Given the description of an element on the screen output the (x, y) to click on. 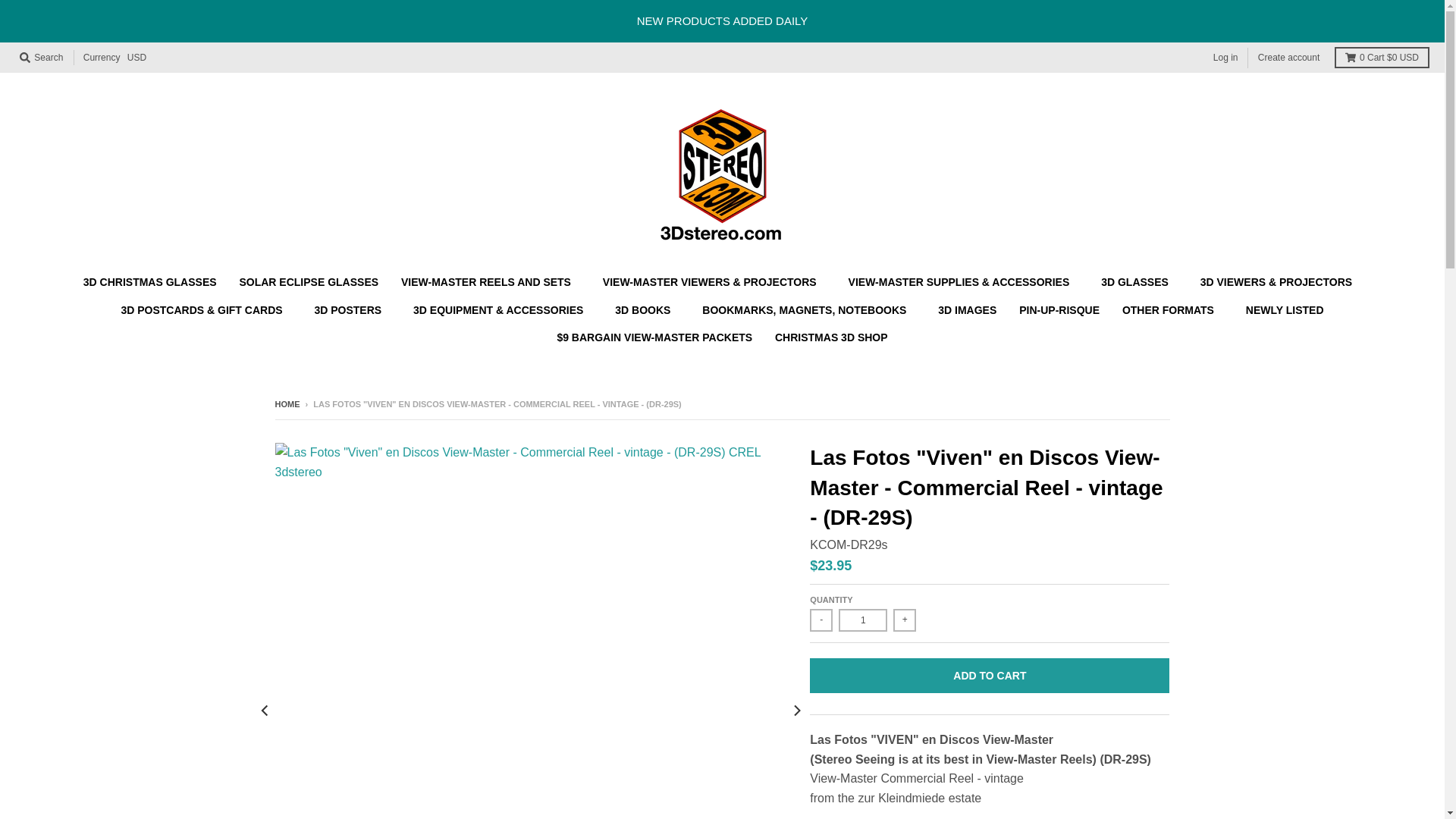
3D IMAGES Element type: text (967, 309)
VIEW-MASTER SUPPLIES & ACCESSORIES Element type: text (963, 281)
Create account Element type: text (1288, 57)
SOLAR ECLIPSE GLASSES Element type: text (308, 281)
HOME Element type: text (286, 403)
VIEW-MASTER VIEWERS & PROJECTORS Element type: text (714, 281)
3D BOOKS Element type: text (647, 309)
BOOKMARKS, MAGNETS, NOTEBOOKS Element type: text (808, 309)
CHRISTMAS 3D SHOP Element type: text (831, 337)
3D POSTCARDS & GIFT CARDS Element type: text (205, 309)
VIEW-MASTER REELS AND SETS Element type: text (490, 281)
3D EQUIPMENT & ACCESSORIES Element type: text (502, 309)
+ Element type: text (904, 619)
Search Element type: text (41, 57)
- Element type: text (820, 619)
NEWLY LISTED Element type: text (1284, 309)
Log in Element type: text (1225, 57)
0 Cart $0 USD Element type: text (1381, 57)
OTHER FORMATS Element type: text (1172, 309)
3D POSTERS Element type: text (352, 309)
$9 BARGAIN VIEW-MASTER PACKETS Element type: text (654, 337)
3D CHRISTMAS GLASSES Element type: text (149, 281)
3D GLASSES Element type: text (1139, 281)
ADD TO CART Element type: text (989, 675)
3D VIEWERS & PROJECTORS Element type: text (1280, 281)
PIN-UP-RISQUE Element type: text (1059, 309)
NEW PRODUCTS ADDED DAILY Element type: text (722, 21)
